Given the description of an element on the screen output the (x, y) to click on. 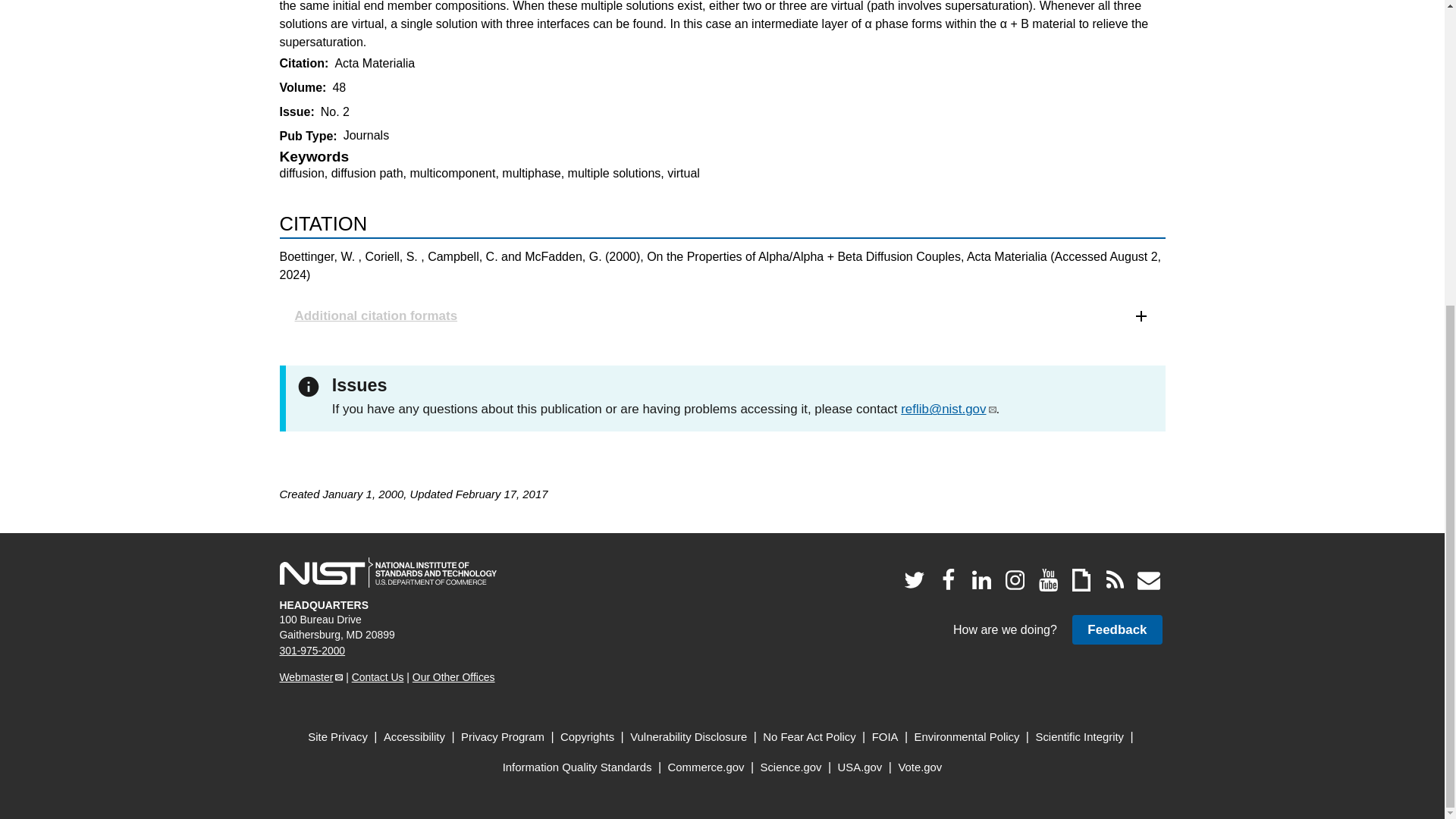
Privacy Program (502, 736)
Vulnerability Disclosure (688, 736)
National Institute of Standards and Technology (387, 572)
Our Other Offices (453, 676)
Provide feedback (1116, 629)
Accessibility (414, 736)
Information Quality Standards (577, 767)
FOIA (885, 736)
Additional citation formats (721, 315)
Environmental Policy (967, 736)
